Given the description of an element on the screen output the (x, y) to click on. 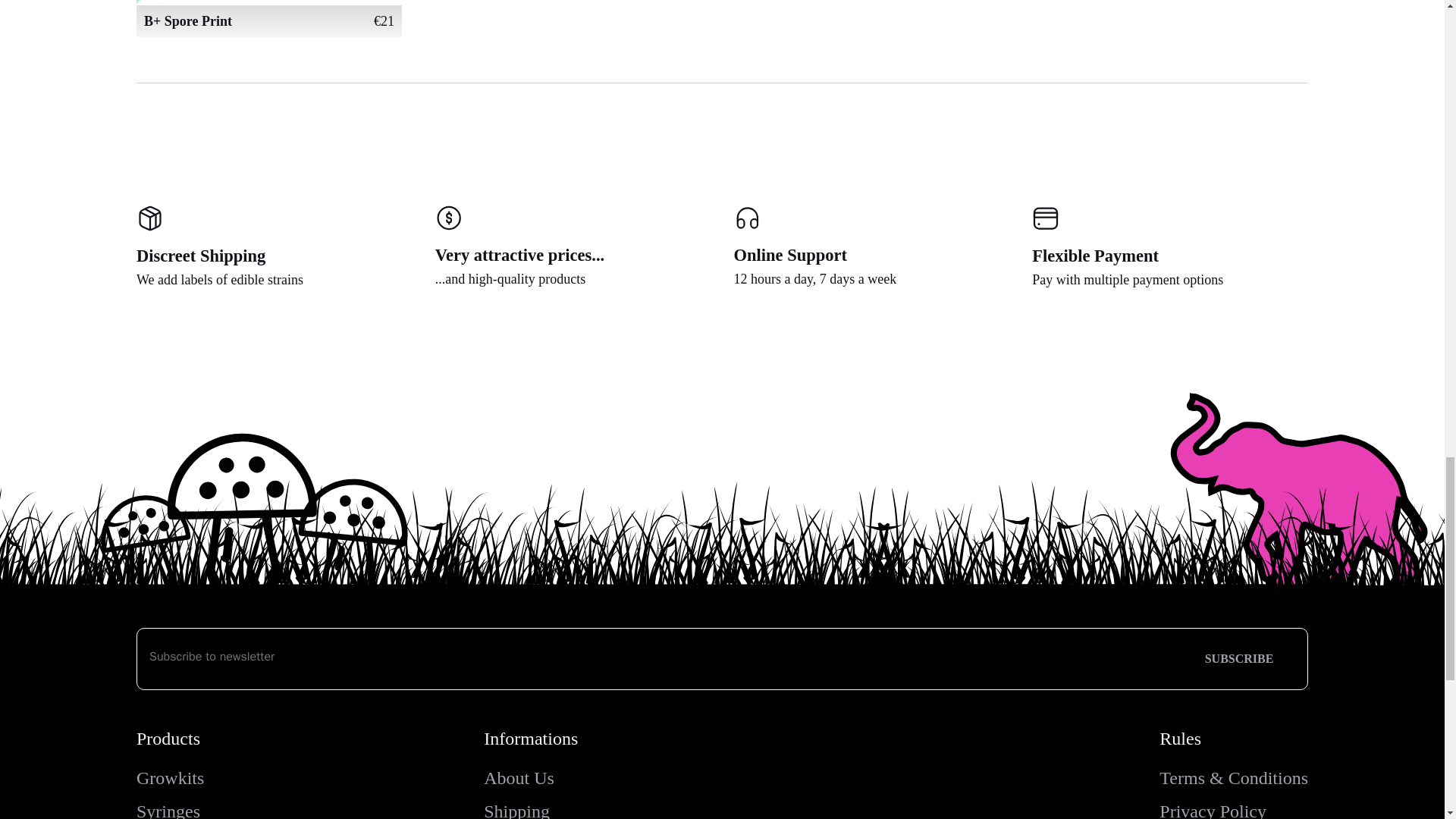
Privacy Policy (1212, 810)
Shipping (516, 810)
SUBSCRIBE (1238, 658)
Syringes (168, 810)
Growkits (169, 777)
About Us (518, 777)
